Given the description of an element on the screen output the (x, y) to click on. 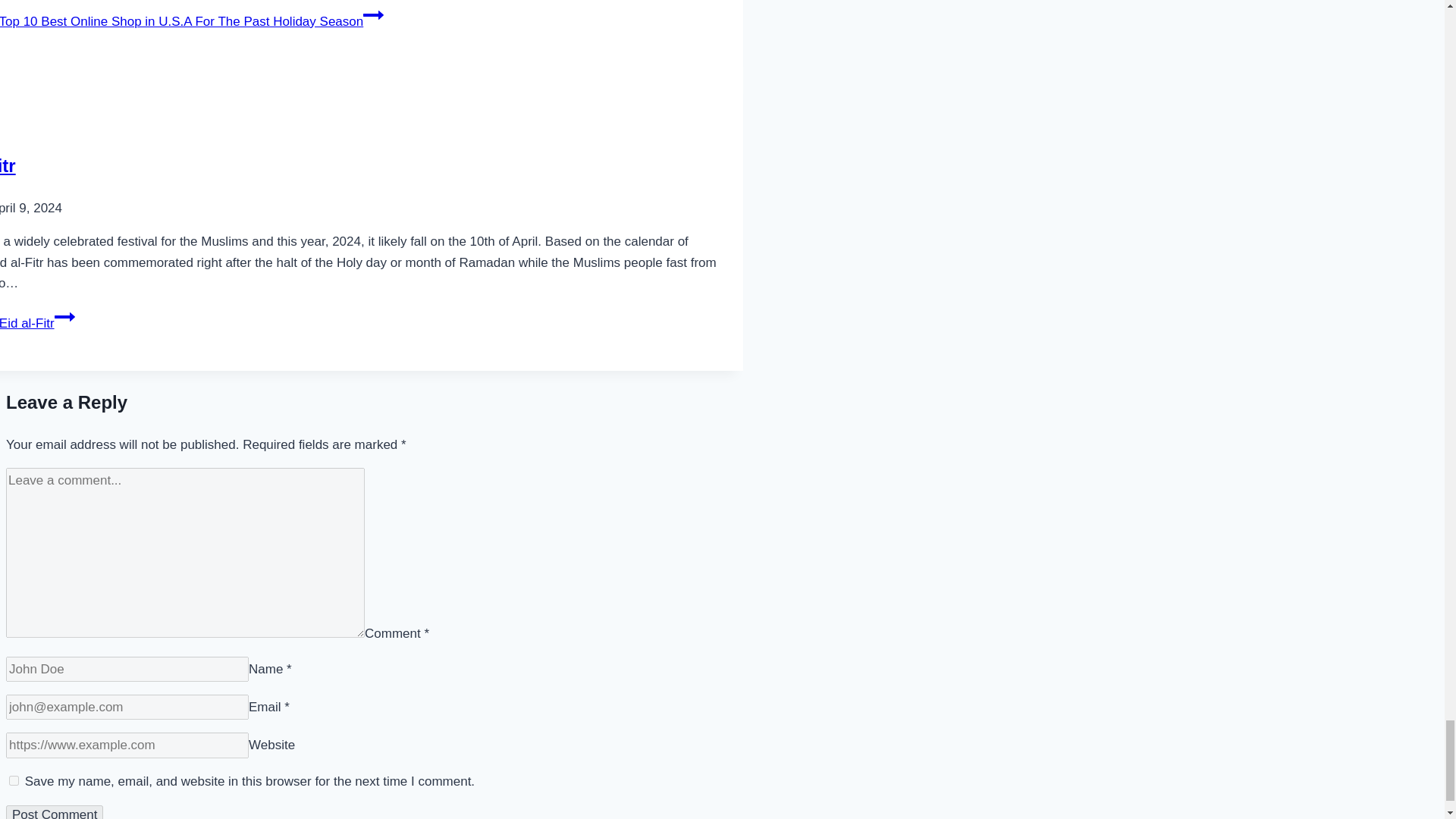
yes (13, 780)
Continue (65, 316)
Continue (373, 14)
